Given the description of an element on the screen output the (x, y) to click on. 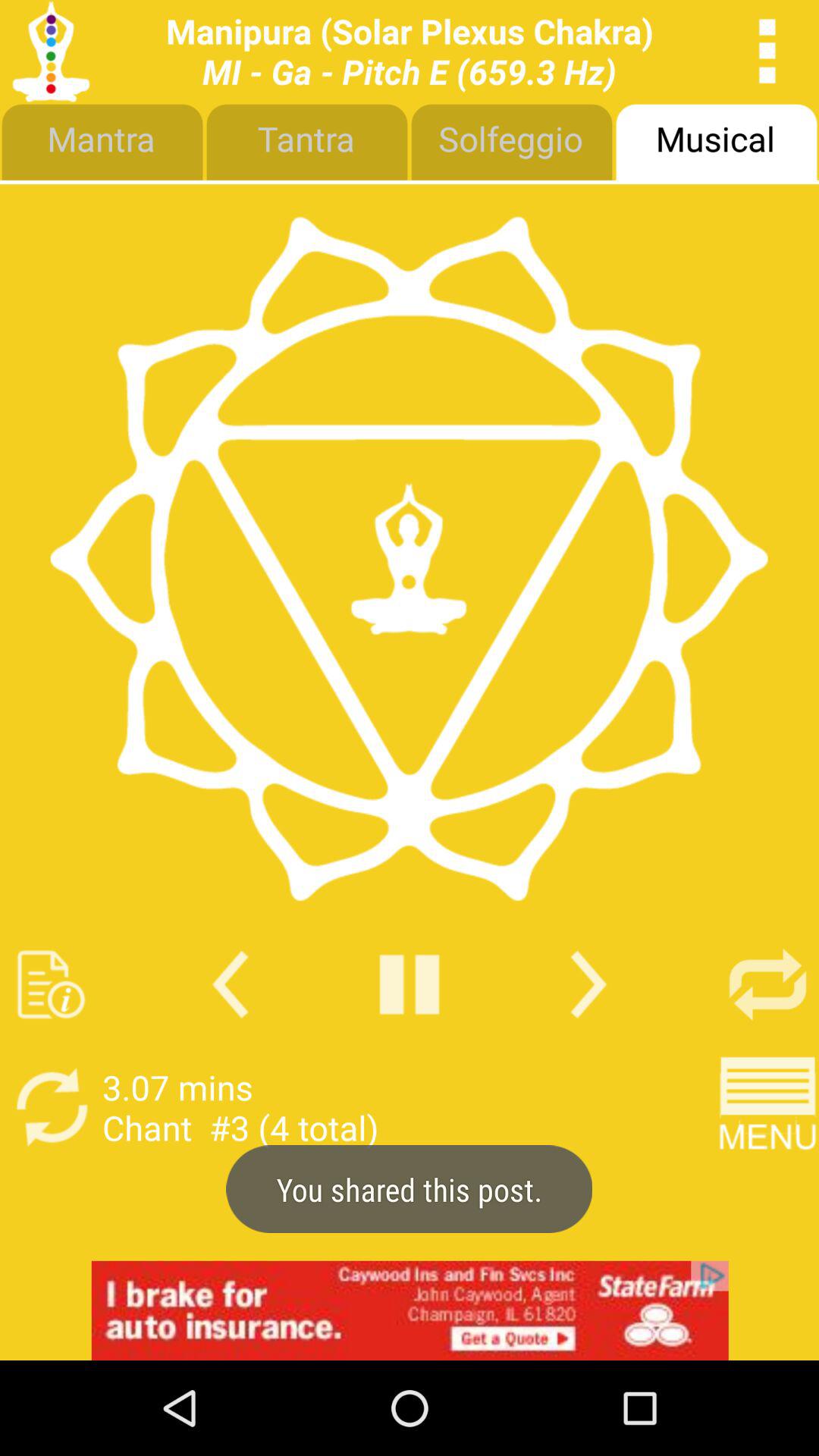
click to pause (409, 984)
